Given the description of an element on the screen output the (x, y) to click on. 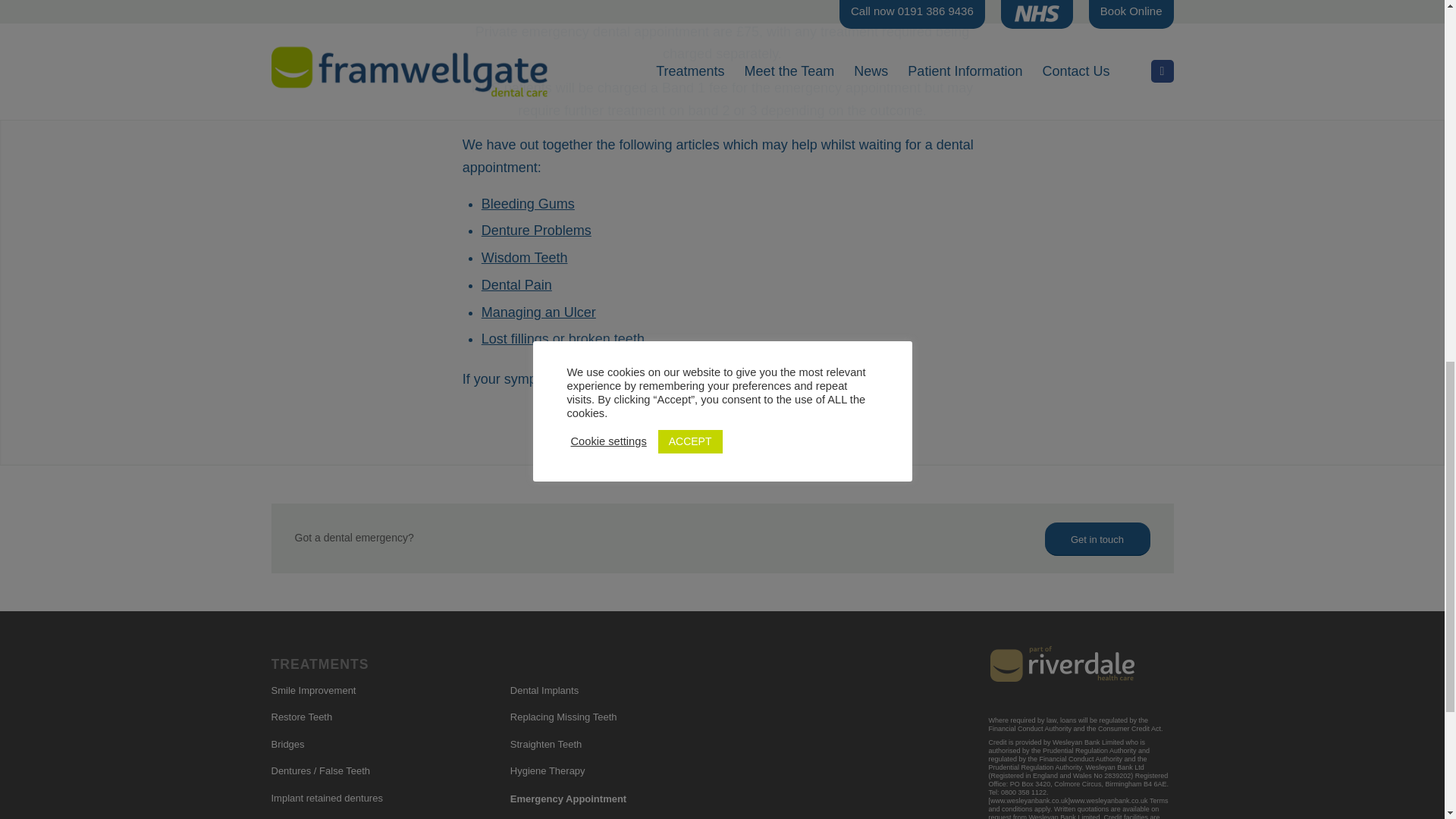
Denture Problems (536, 230)
Bleeding Gums (528, 203)
www.nhsdirect.nhs.uk (734, 2)
